Given the description of an element on the screen output the (x, y) to click on. 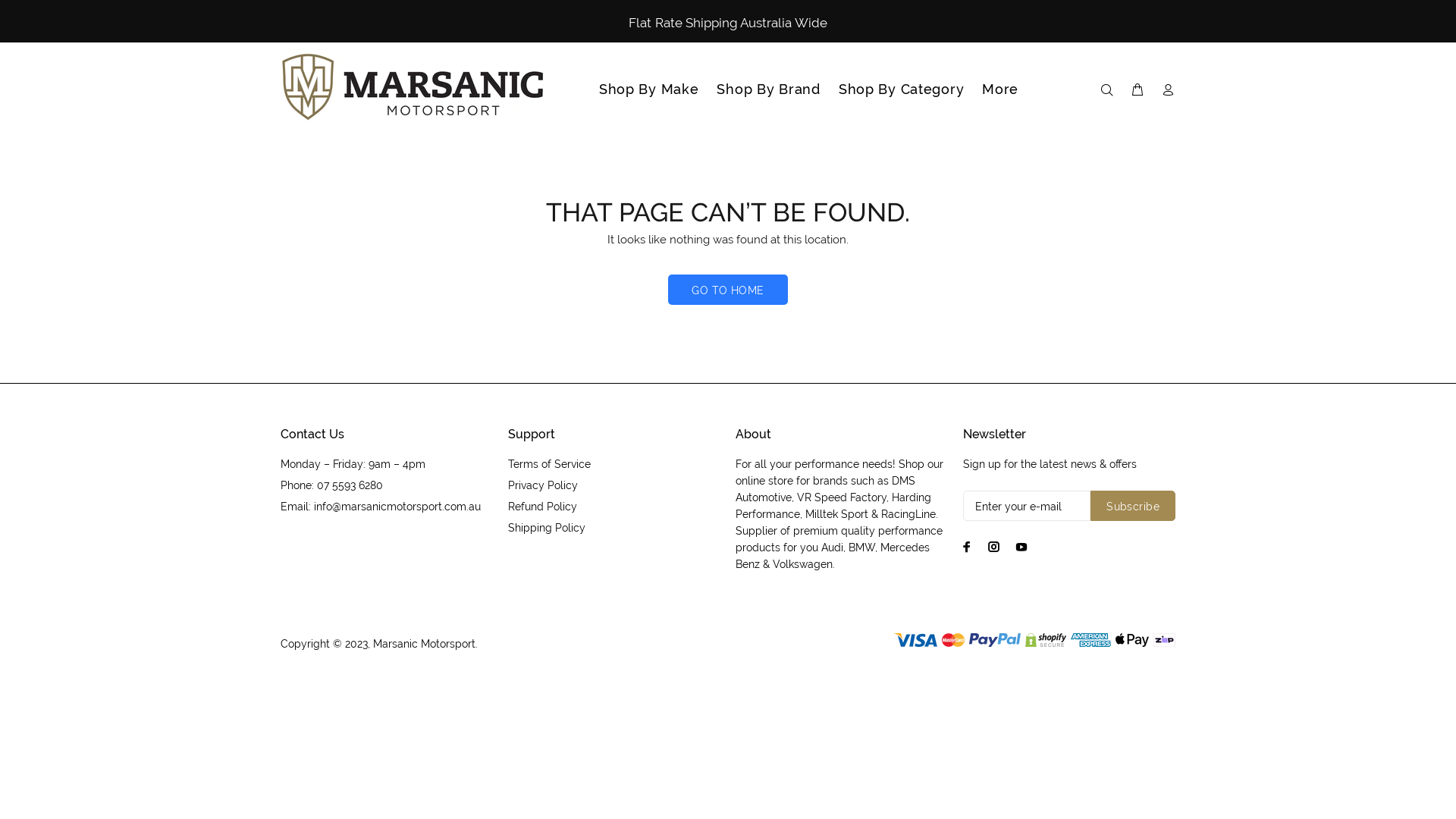
info@marsanicmotorsport.com.au Element type: text (396, 506)
Subscribe Element type: text (1132, 505)
Privacy Policy Element type: text (542, 484)
GO TO HOME Element type: text (727, 289)
Terms of Service Element type: text (549, 463)
More Element type: text (995, 89)
Shop By Make Element type: text (648, 89)
Shop By Category Element type: text (901, 89)
Refund Policy Element type: text (542, 506)
Shop By Brand Element type: text (767, 89)
Shipping Policy Element type: text (546, 527)
